Given the description of an element on the screen output the (x, y) to click on. 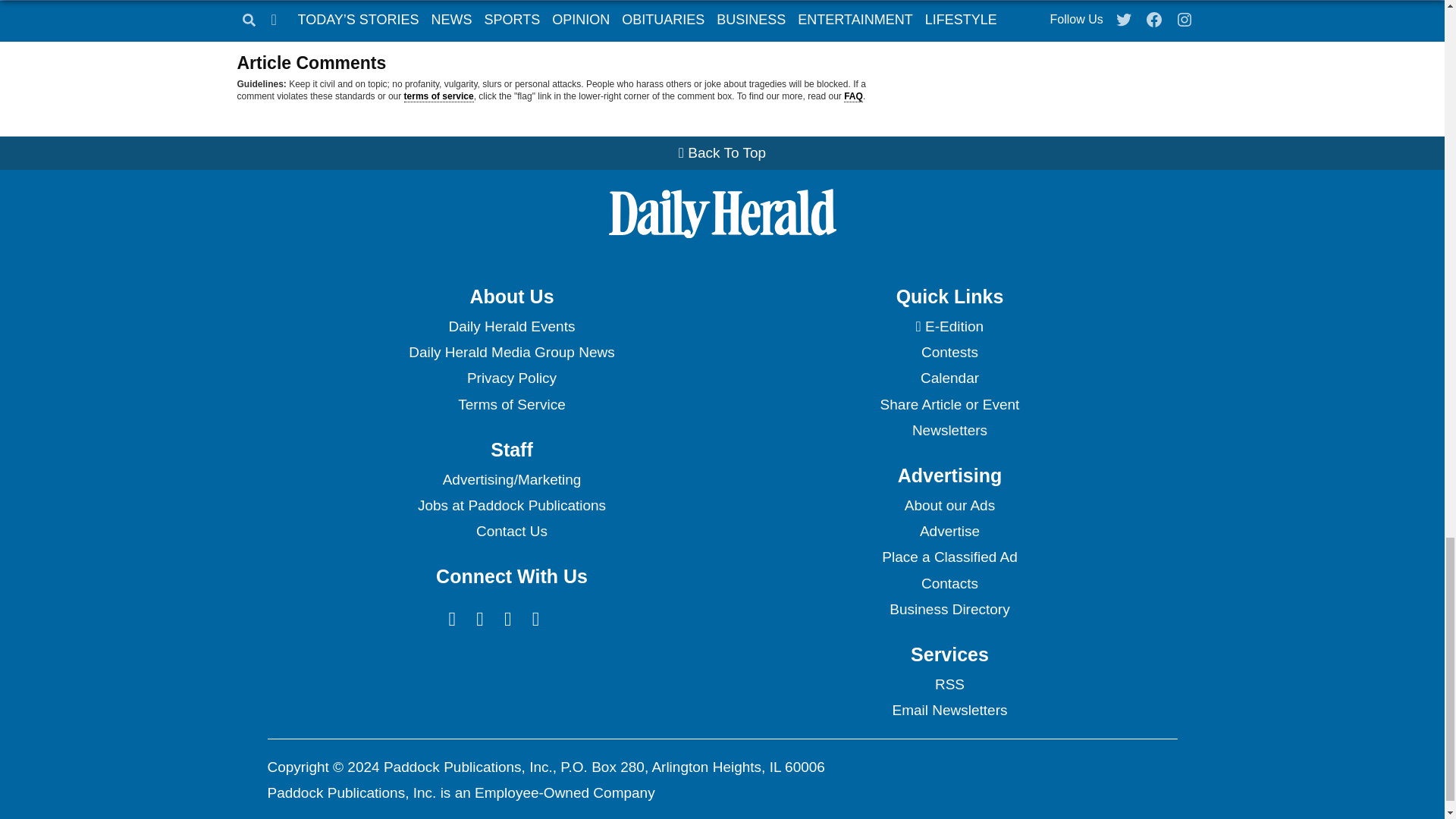
Daily Herald Digital Newspaper (949, 326)
Daily Herald Events (511, 326)
Contests (949, 352)
Daily Herald Media Group News (511, 352)
Contact Us (511, 531)
Privacy Policy (511, 378)
Jobs at Paddock Publications (511, 505)
Terms of Service (511, 404)
